Given the description of an element on the screen output the (x, y) to click on. 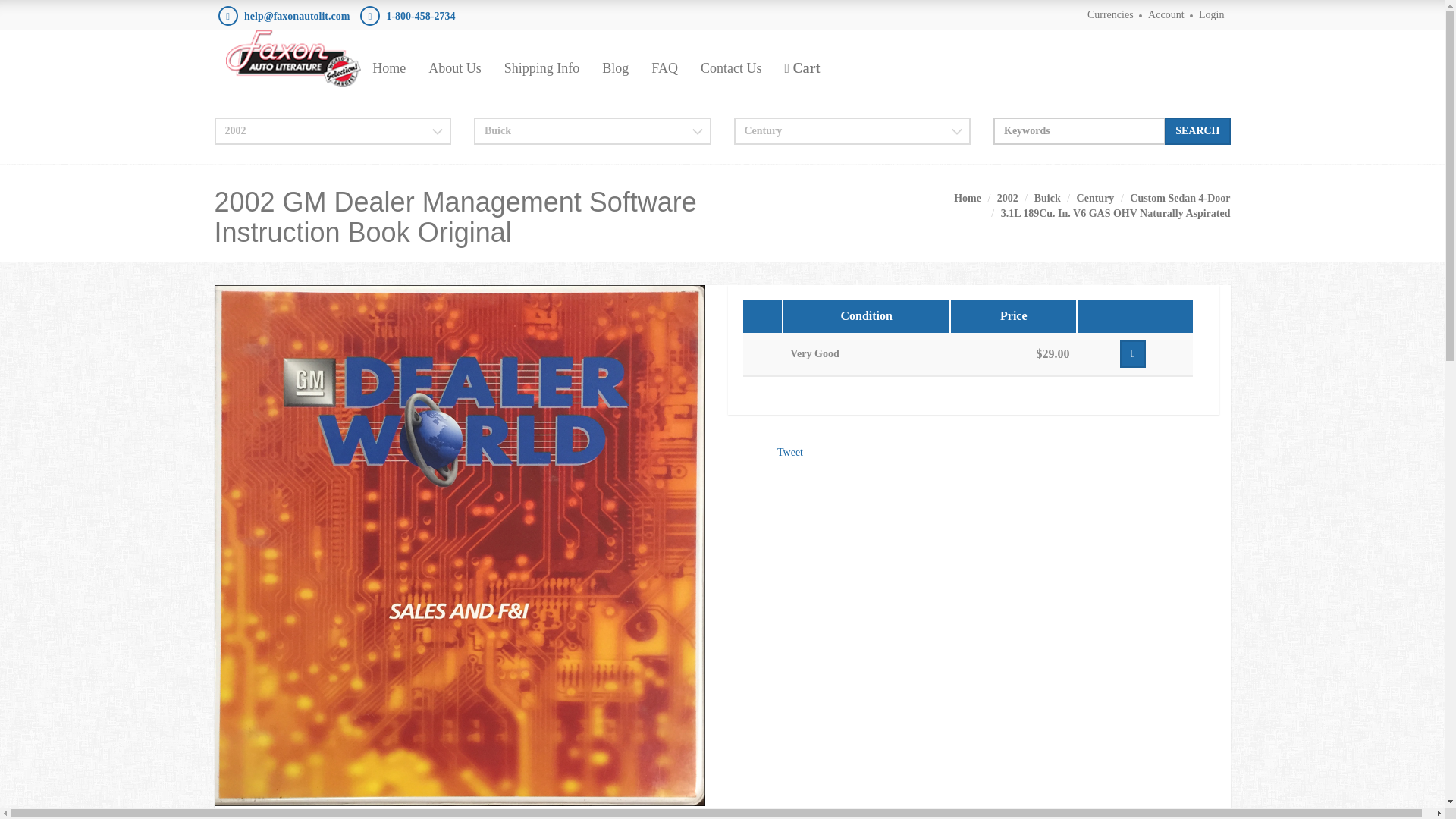
Contact Us (730, 67)
Account (1165, 14)
Custom Sedan 4-Door (1179, 197)
Login (1211, 14)
Home (388, 67)
SEARCH (1197, 130)
Home (967, 197)
Cart (802, 67)
Currencies (1110, 14)
